Given the description of an element on the screen output the (x, y) to click on. 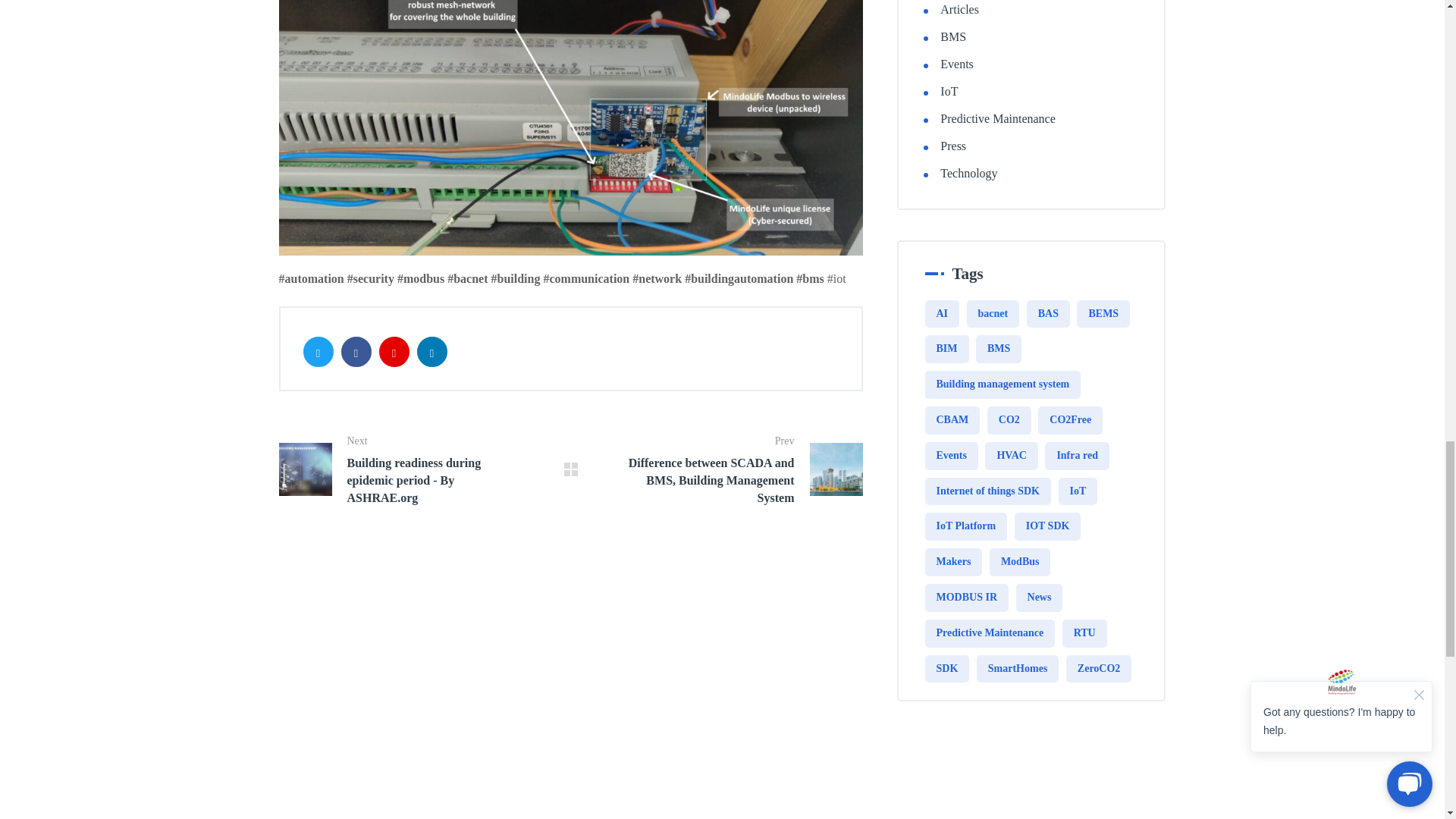
Difference between SCADA and BMS, Building Management System (741, 468)
Building readiness during epidemic period - By ASHRAE.org (400, 468)
Back to previous page (571, 468)
